Given the description of an element on the screen output the (x, y) to click on. 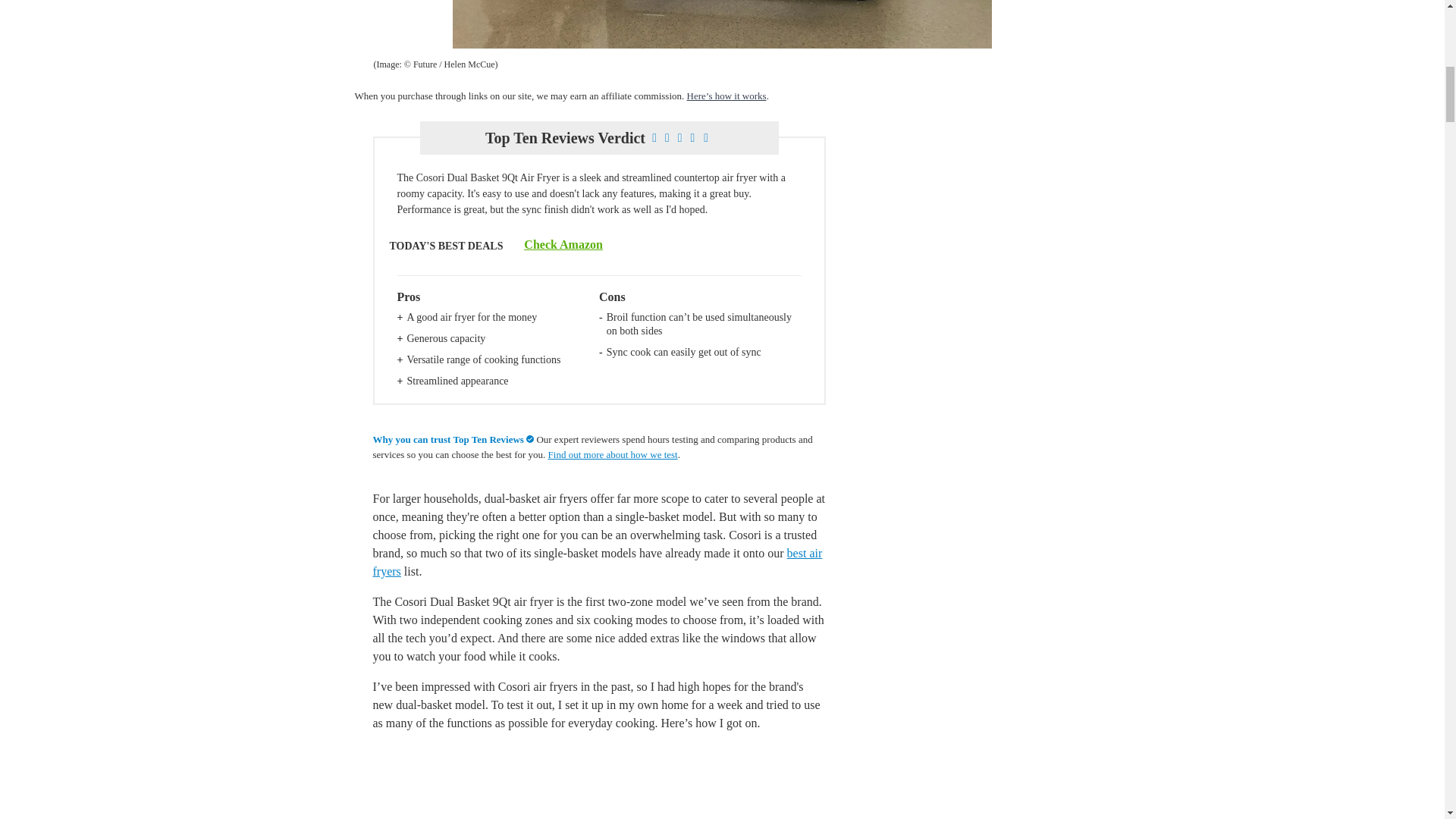
Find out more about how we test (613, 454)
Check Amazon (563, 244)
